Given the description of an element on the screen output the (x, y) to click on. 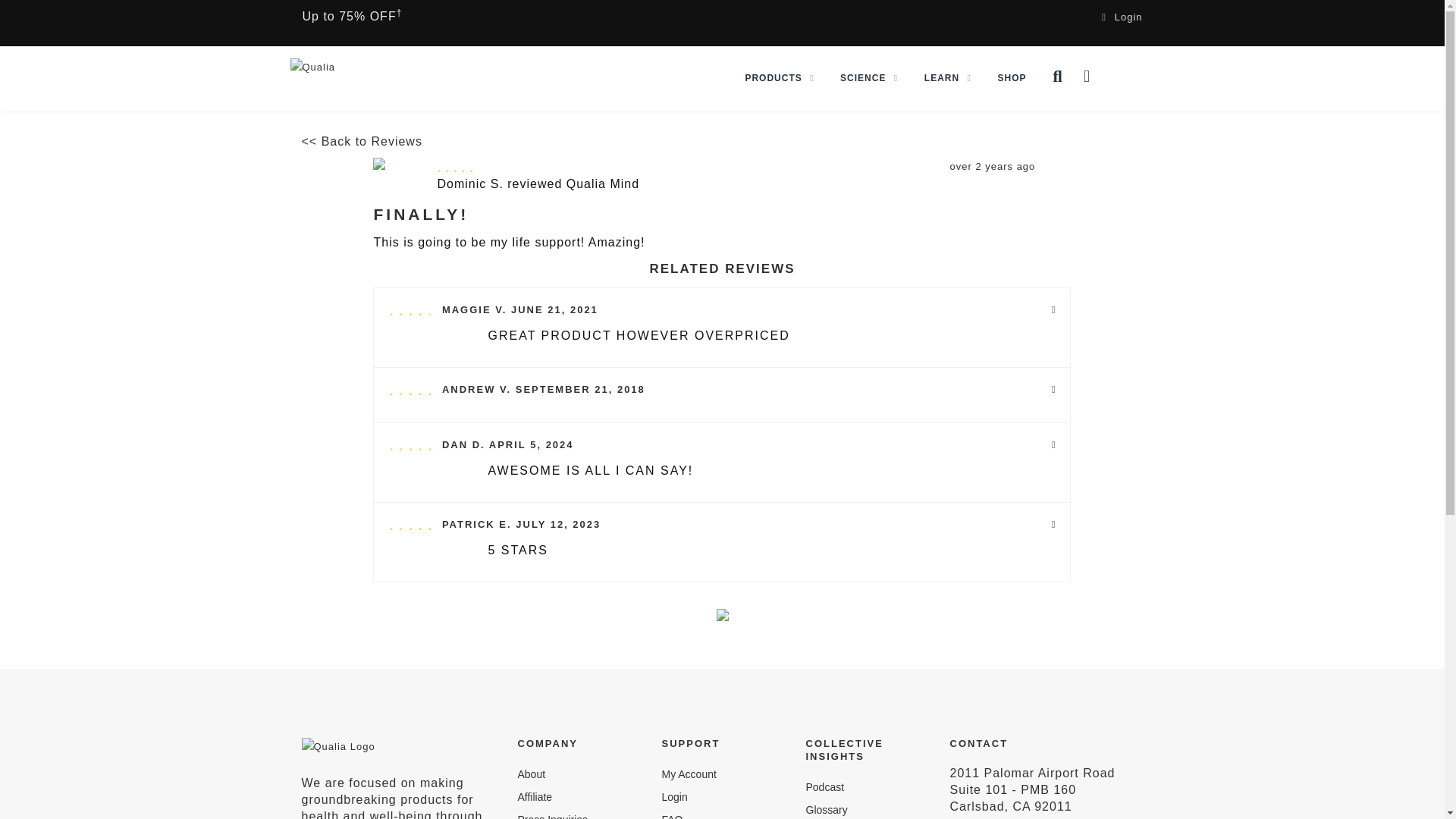
Login (1121, 16)
PRODUCTS (779, 77)
SCIENCE (868, 77)
LEARN (947, 77)
